Given the description of an element on the screen output the (x, y) to click on. 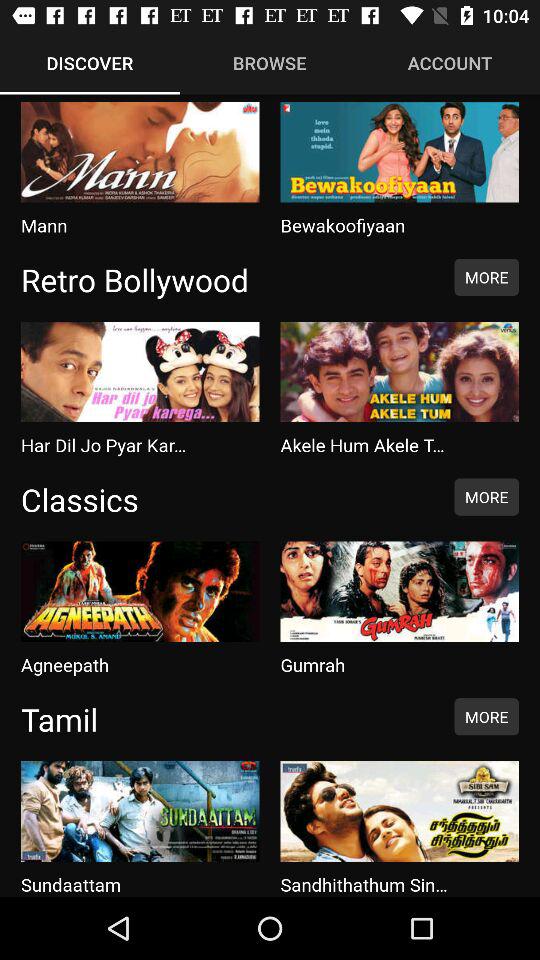
click item next to the more (227, 279)
